Given the description of an element on the screen output the (x, y) to click on. 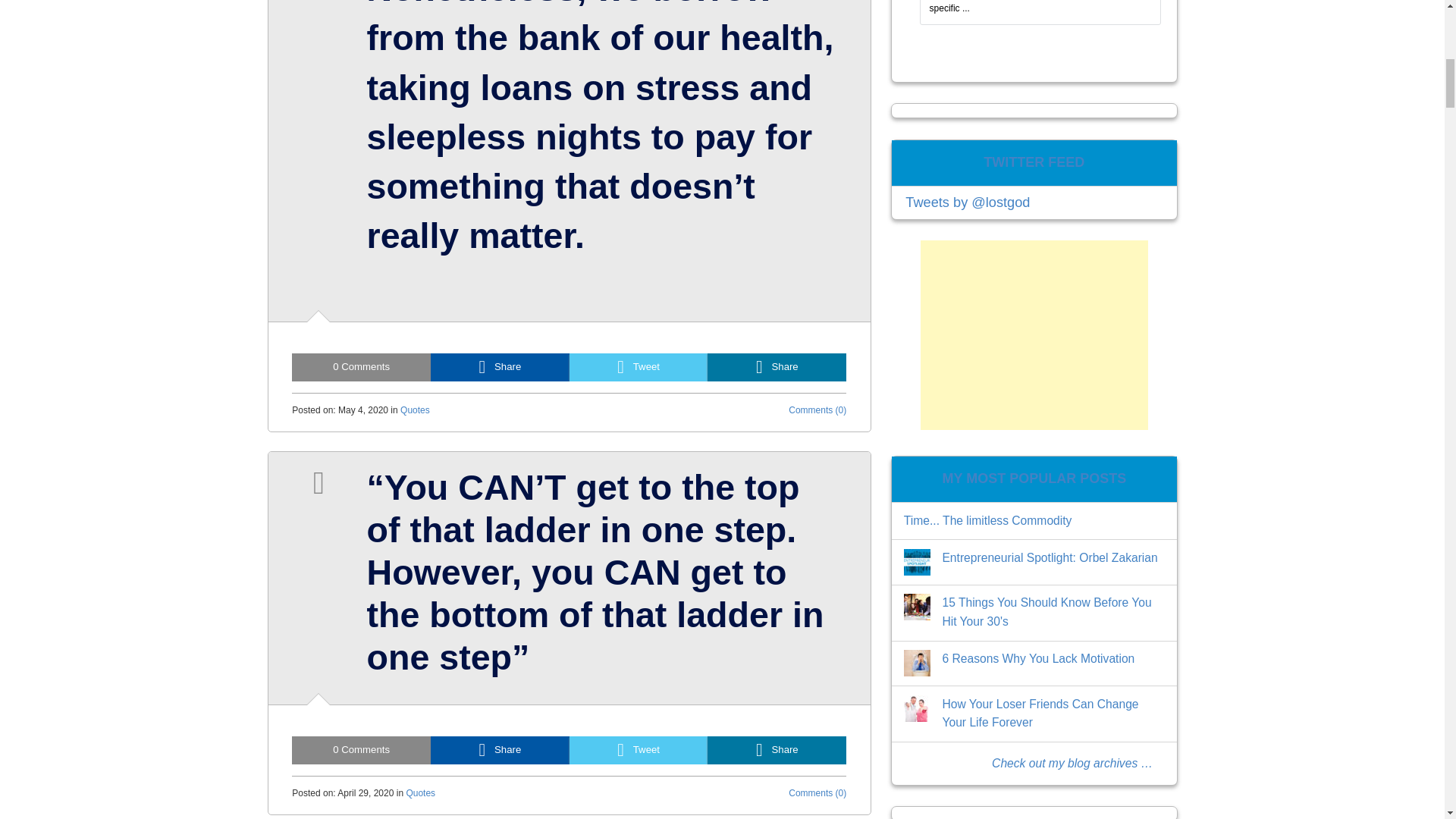
Quotes (414, 409)
Tweet this Post (638, 750)
Share on Facebook (499, 366)
Comment on this Post (361, 366)
Tweet (638, 366)
Tweet this Post (638, 366)
Share on LinkedIn (776, 366)
Share on LinkedIn (776, 750)
Share (499, 750)
Tweet (638, 750)
Share (776, 366)
Share (776, 750)
Share (499, 366)
0 Comments (361, 750)
Comment on this Post (361, 750)
